Given the description of an element on the screen output the (x, y) to click on. 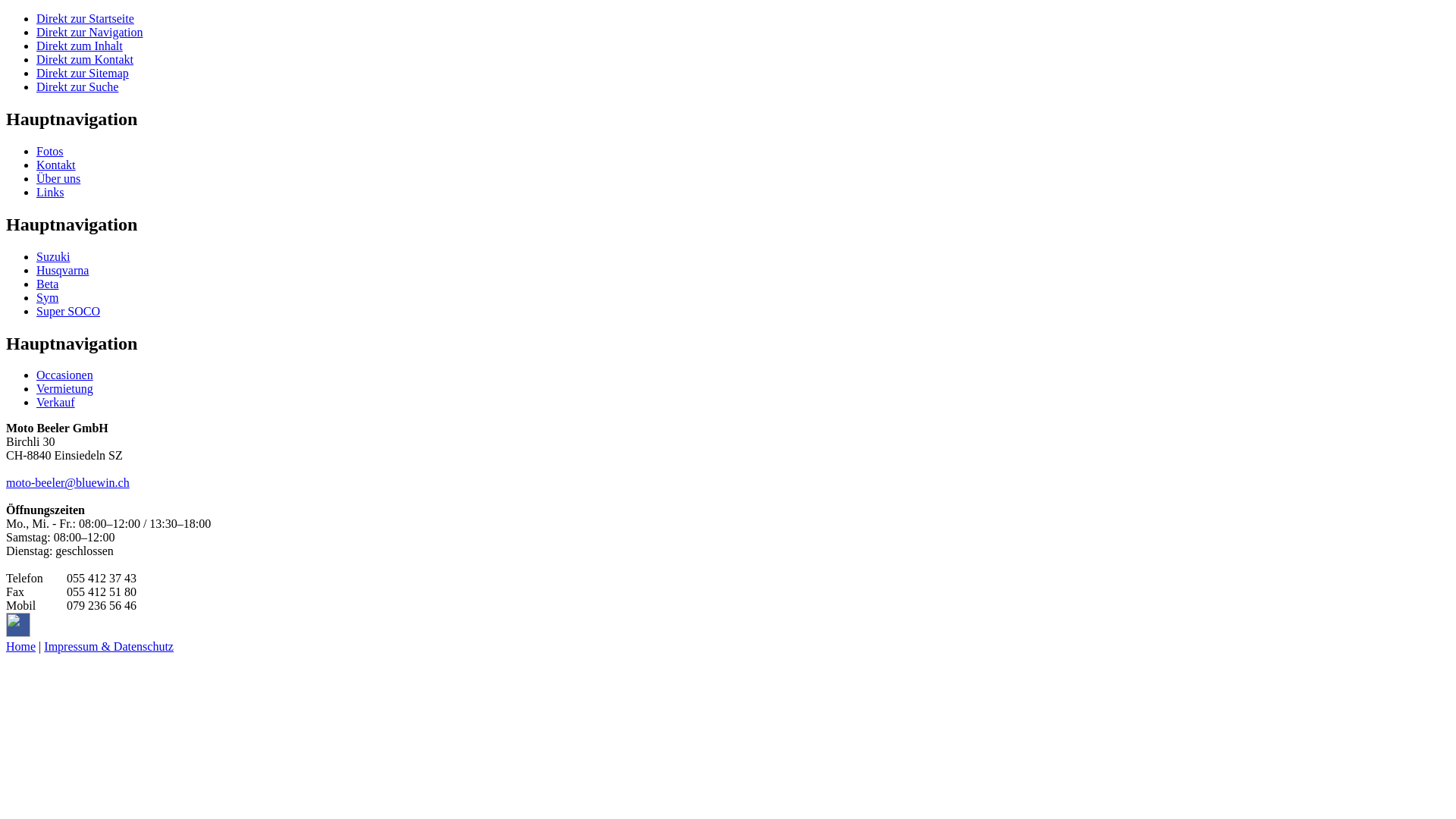
Verkauf Element type: text (55, 401)
Vermietung Element type: text (64, 388)
Super SOCO Element type: text (68, 310)
Direkt zum Kontakt Element type: text (84, 59)
Direkt zur Navigation Element type: text (89, 31)
Sym Element type: text (47, 297)
Direkt zum Inhalt Element type: text (79, 45)
Fotos Element type: text (49, 150)
Impressum & Datenschutz Element type: text (108, 646)
Direkt zur Startseite Element type: text (85, 18)
Direkt zur Sitemap Element type: text (82, 72)
Husqvarna Element type: text (62, 269)
Direkt zur Suche Element type: text (77, 86)
Home Element type: text (20, 646)
moto-beeler@bluewin.ch Element type: text (67, 482)
Links Element type: text (49, 191)
Kontakt Element type: text (55, 164)
Beta Element type: text (47, 283)
Suzuki Element type: text (52, 256)
Occasionen Element type: text (64, 374)
